Given the description of an element on the screen output the (x, y) to click on. 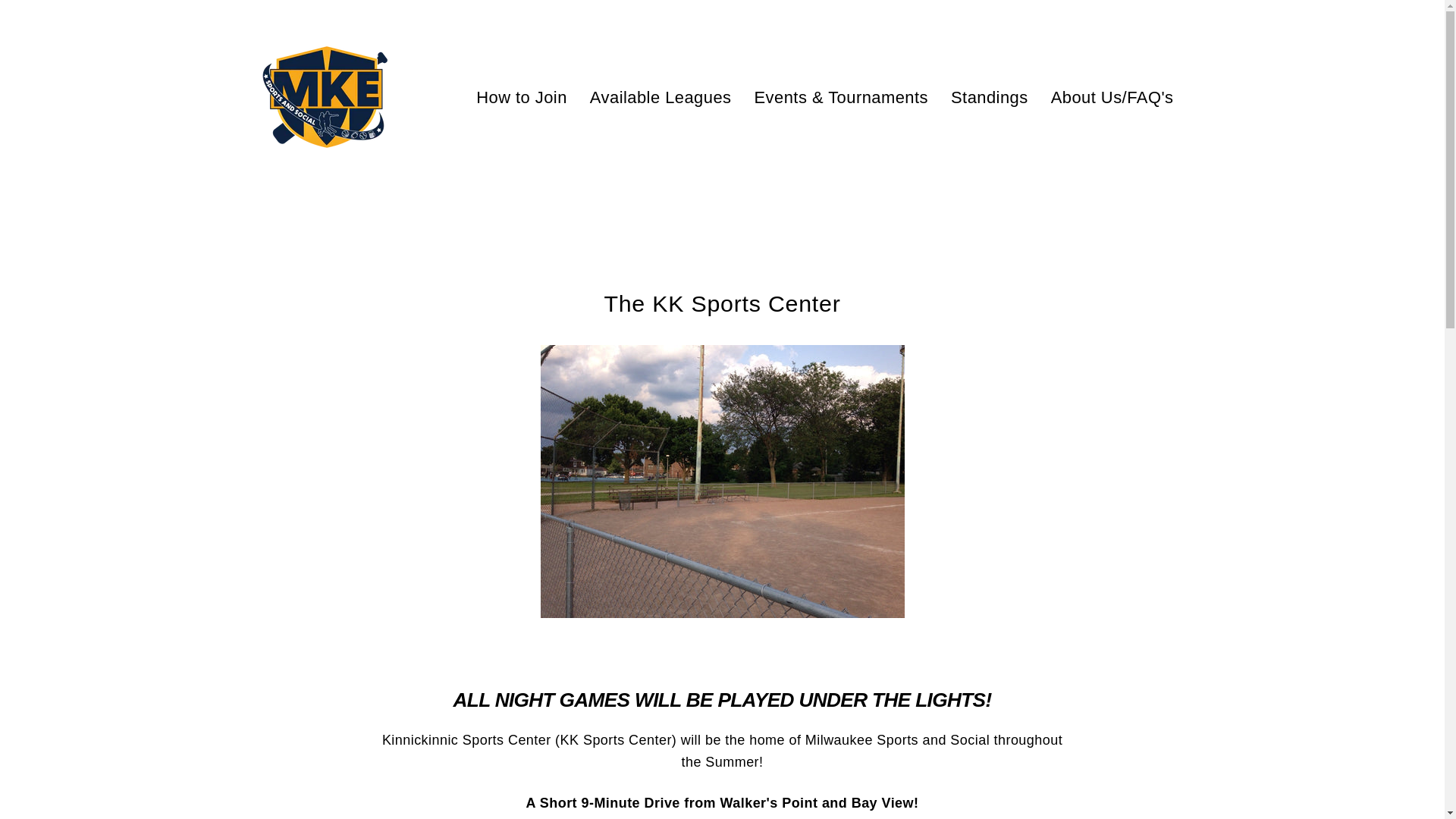
Available Leagues (660, 96)
How to Join (521, 96)
